Given the description of an element on the screen output the (x, y) to click on. 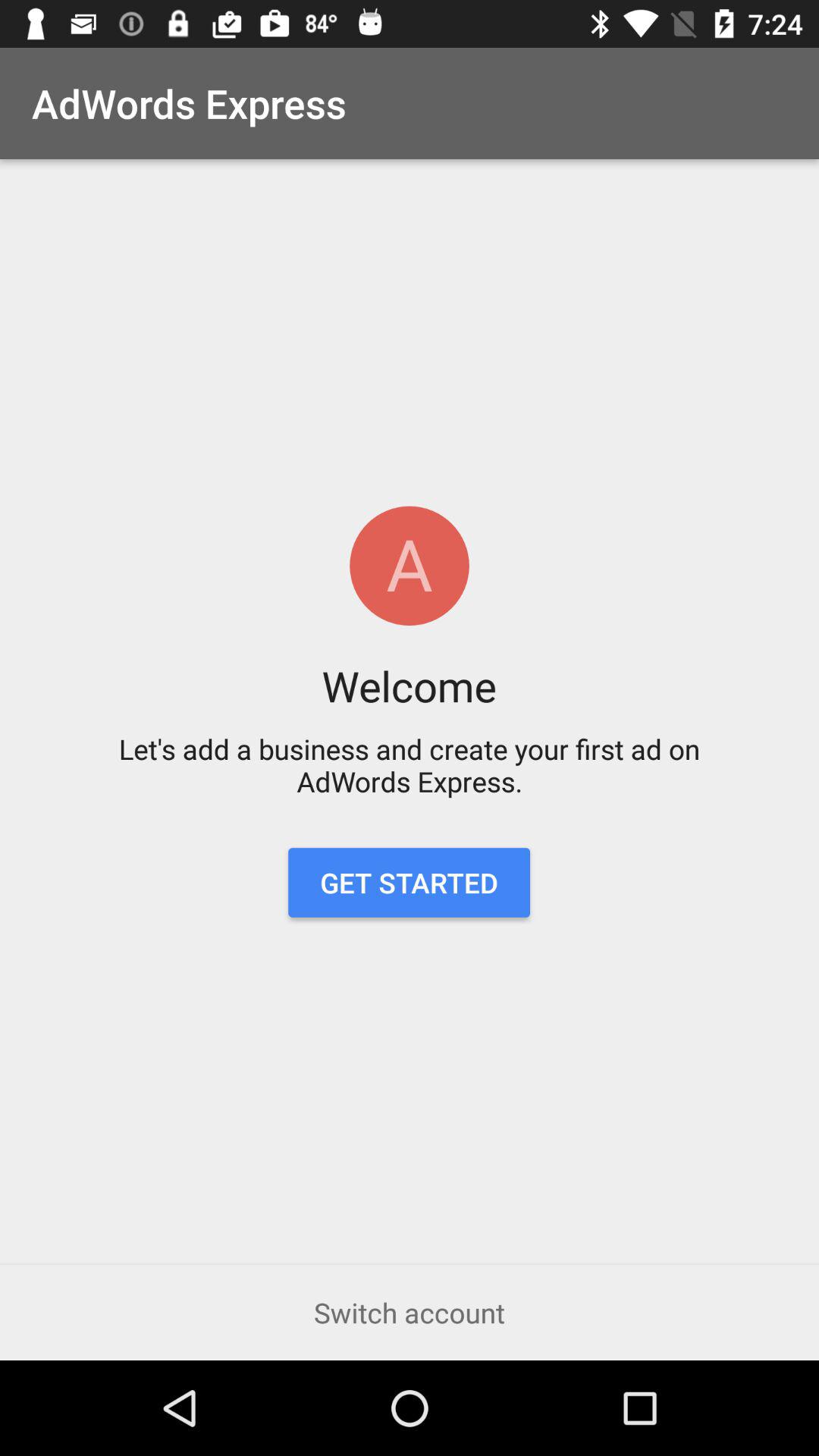
scroll to the get started icon (409, 882)
